Given the description of an element on the screen output the (x, y) to click on. 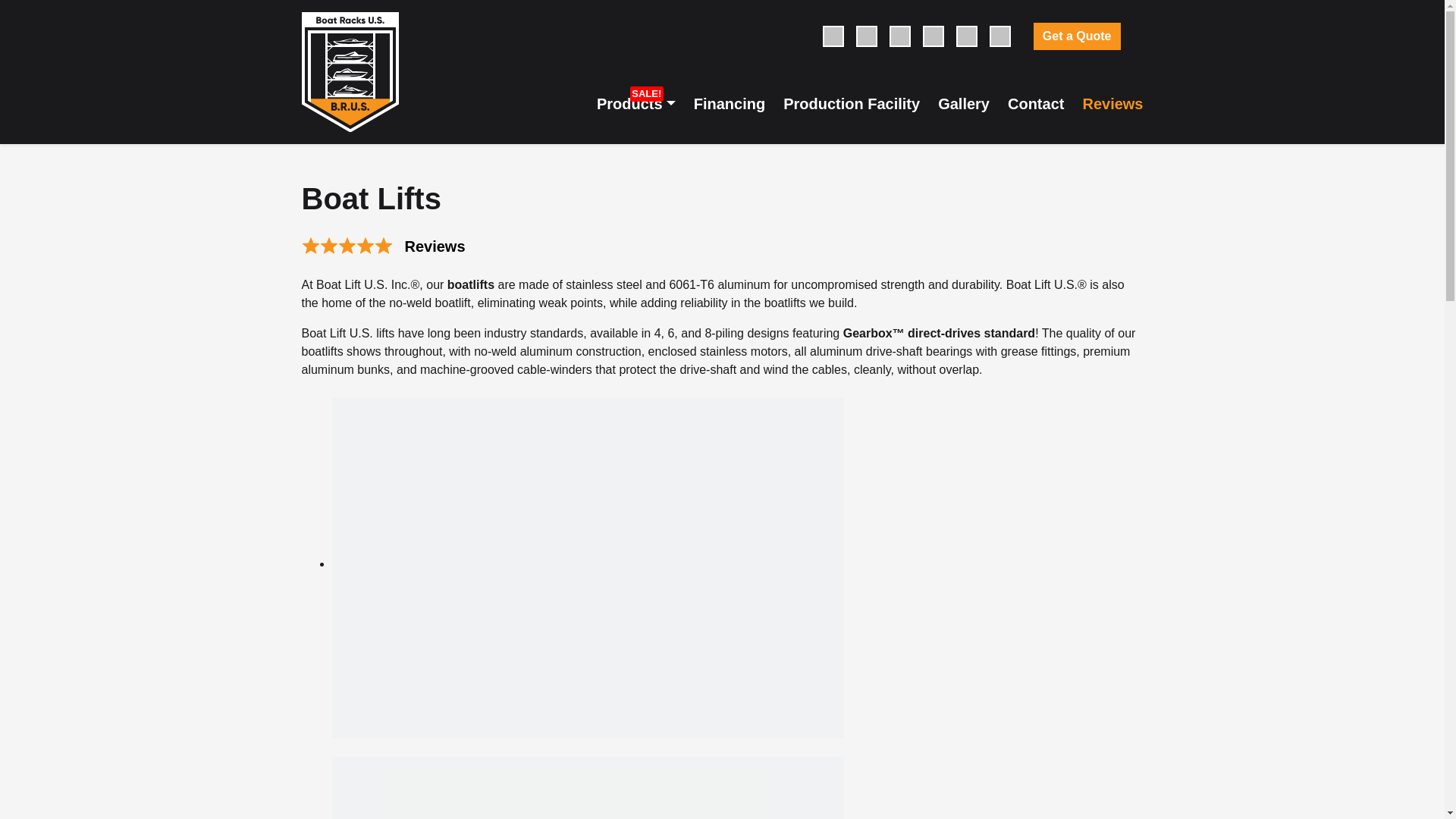
Gallery (963, 103)
Contact (1035, 103)
Reviews (434, 246)
Production Facility (851, 103)
Get a Quote (1077, 35)
Boat Racks U.S. (349, 70)
Financing (729, 103)
Reviews (1111, 103)
Products (635, 103)
